Given the description of an element on the screen output the (x, y) to click on. 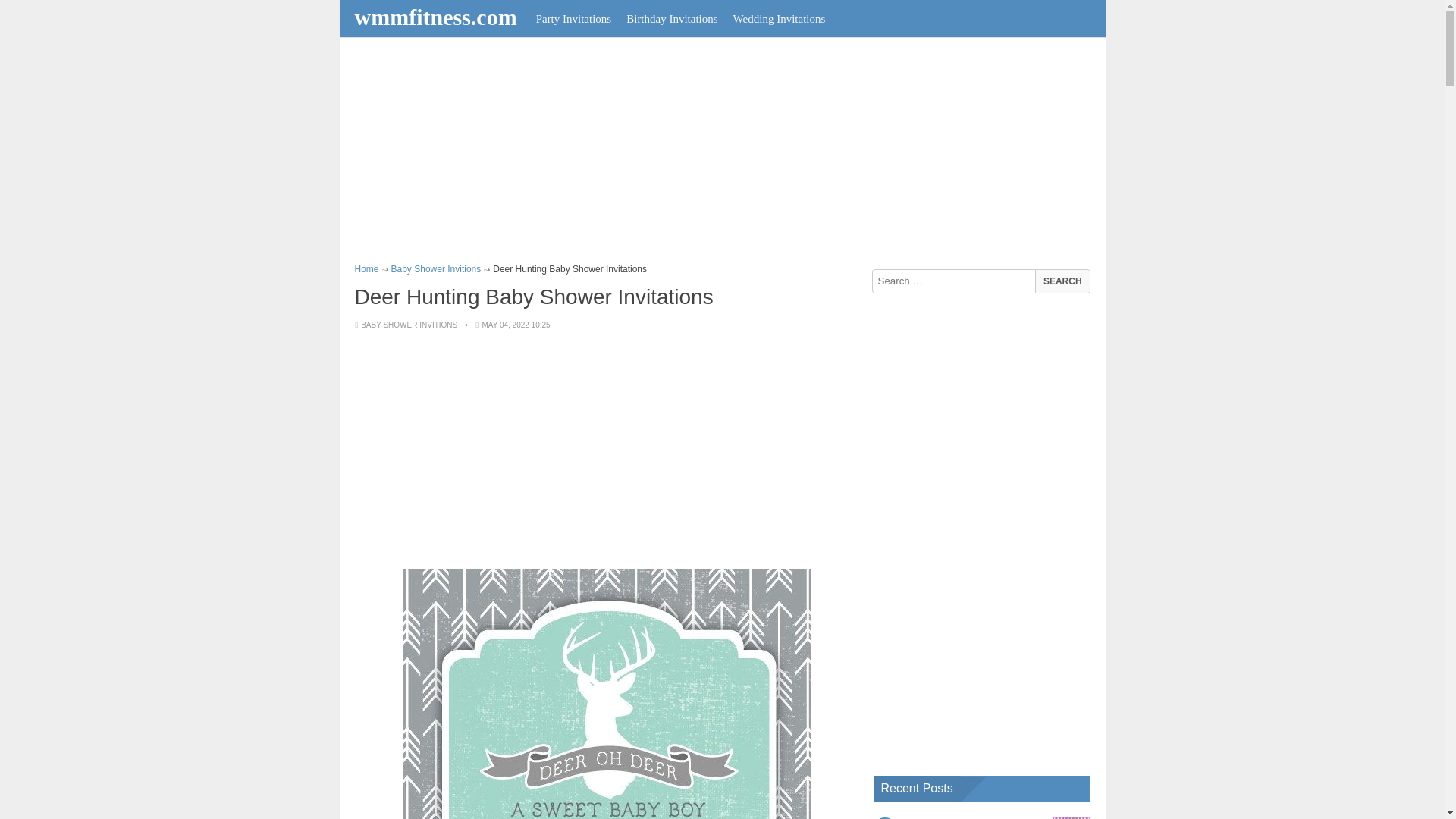
Party Invitations (574, 18)
Birthday Invitations (671, 18)
wmmfitness.com (437, 16)
Search (1062, 281)
Home (366, 268)
BABY SHOWER INVITIONS (409, 325)
Search (1062, 281)
Wedding Invitations (778, 18)
Advertisement (607, 449)
Baby Shower Invitions (436, 268)
